Given the description of an element on the screen output the (x, y) to click on. 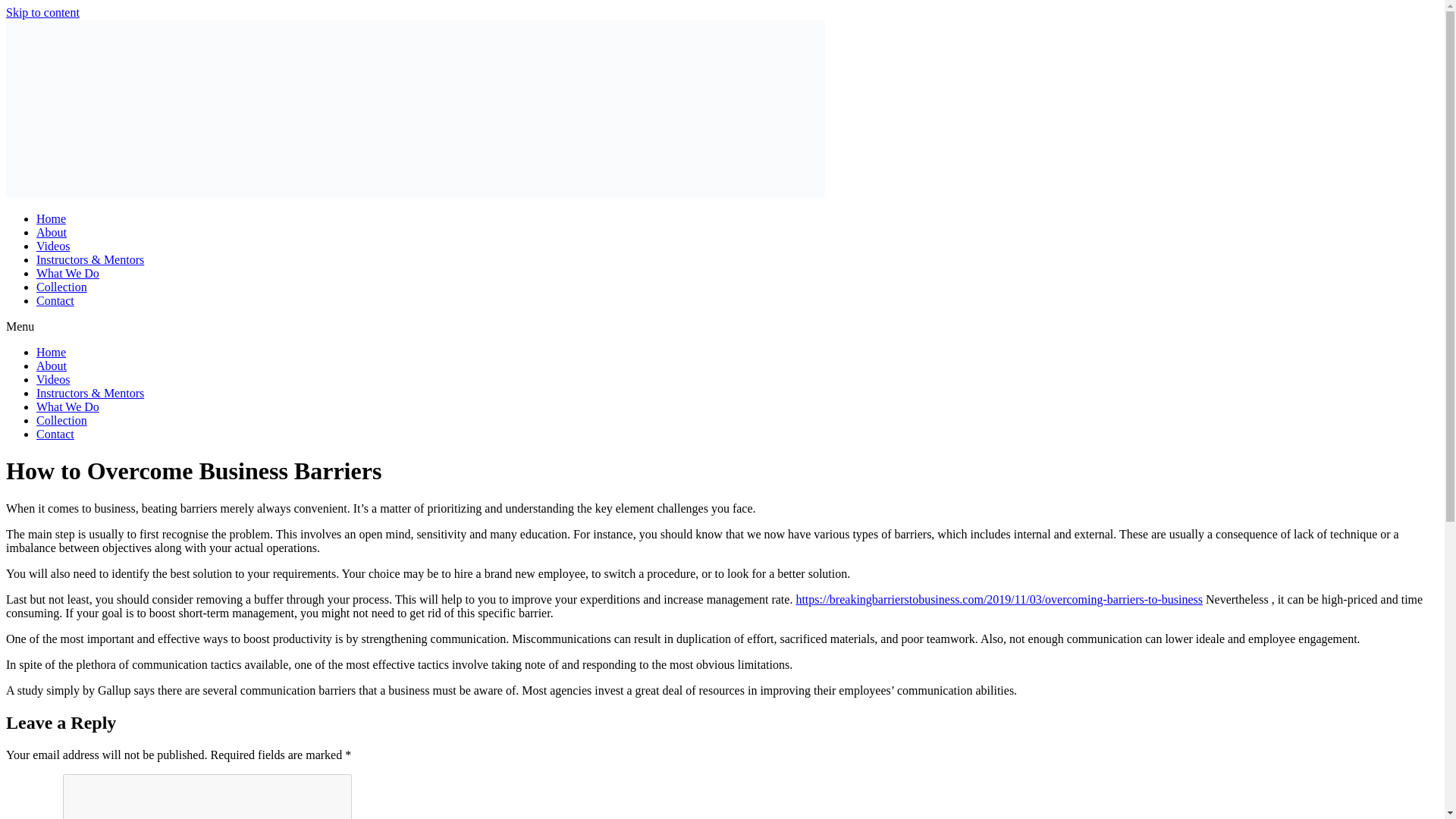
What We Do (67, 273)
Videos (52, 245)
Contact (55, 300)
What We Do (67, 406)
Collection (61, 286)
Home (50, 218)
Home (50, 351)
Videos (52, 379)
About (51, 232)
Collection (61, 420)
